Given the description of an element on the screen output the (x, y) to click on. 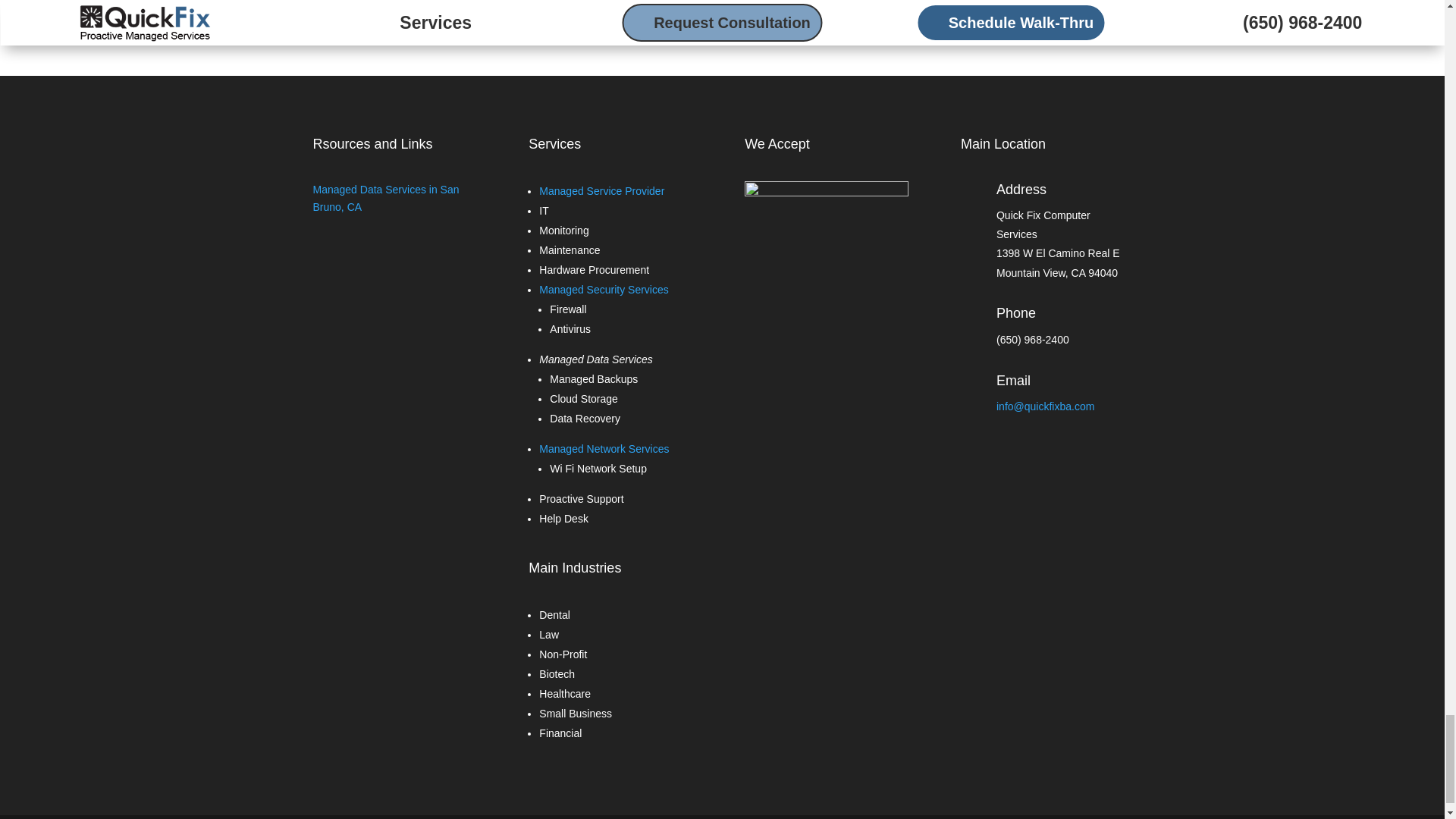
Managed Service Provider (600, 191)
Managed Network Services (603, 449)
Managed Data Services in San Bruno, CA (385, 198)
Managed Security Services (603, 289)
